Given the description of an element on the screen output the (x, y) to click on. 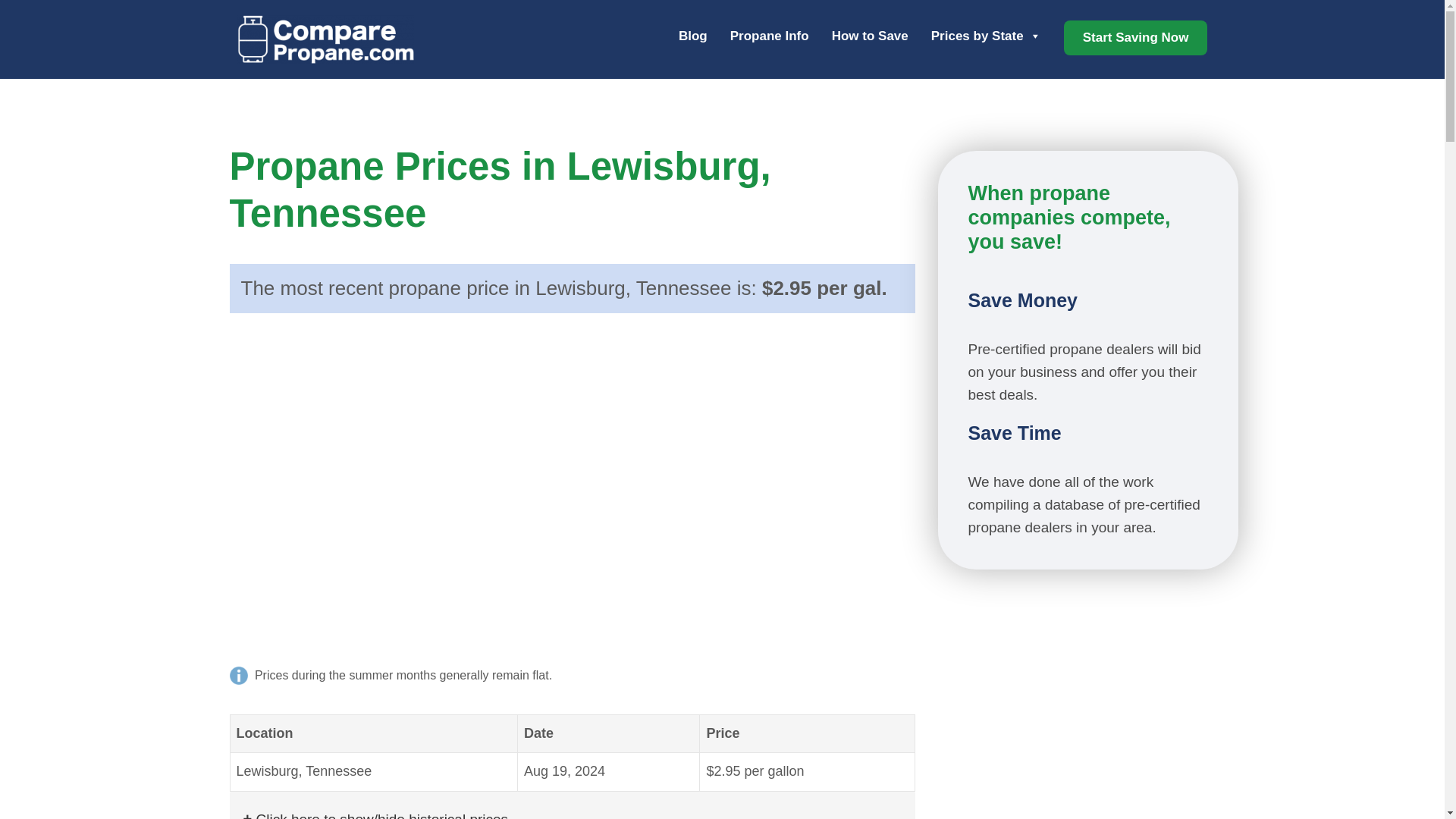
How to Save (869, 37)
Propane Info (769, 37)
Prices by State (986, 37)
